Given the description of an element on the screen output the (x, y) to click on. 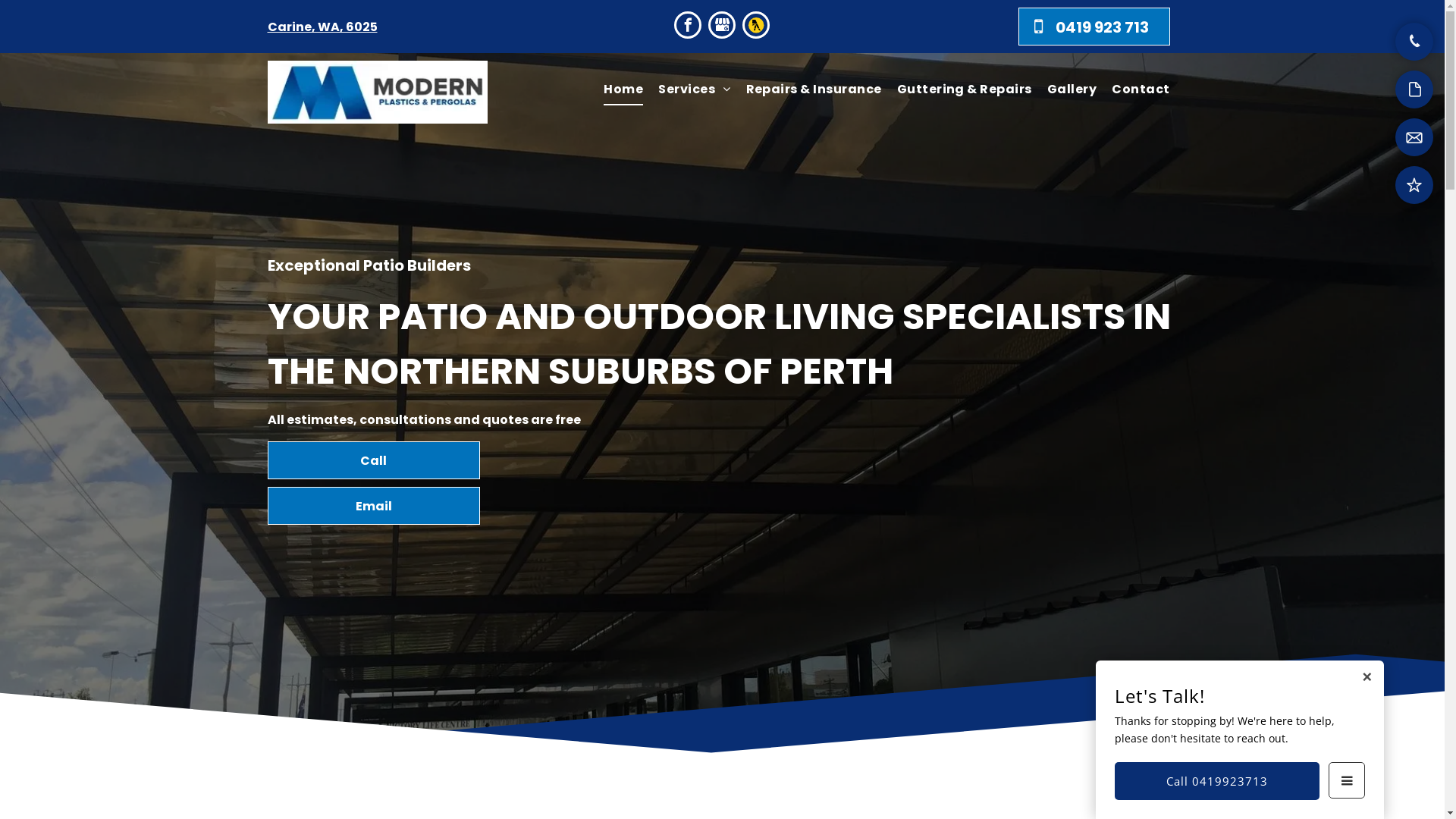
Email Element type: text (372, 505)
Home Element type: text (623, 89)
0419 923 713 Element type: text (1094, 26)
Guttering & Repairs Element type: text (964, 89)
Call Element type: text (372, 460)
Modern Plastics & Pergolas Element type: hover (376, 91)
Services Element type: text (693, 89)
Repairs & Insurance Element type: text (813, 89)
Gallery Element type: text (1071, 89)
Carine, WA, 6025 Element type: text (321, 26)
Call 0419923713 Element type: text (1216, 781)
Contact Element type: text (1140, 89)
